Given the description of an element on the screen output the (x, y) to click on. 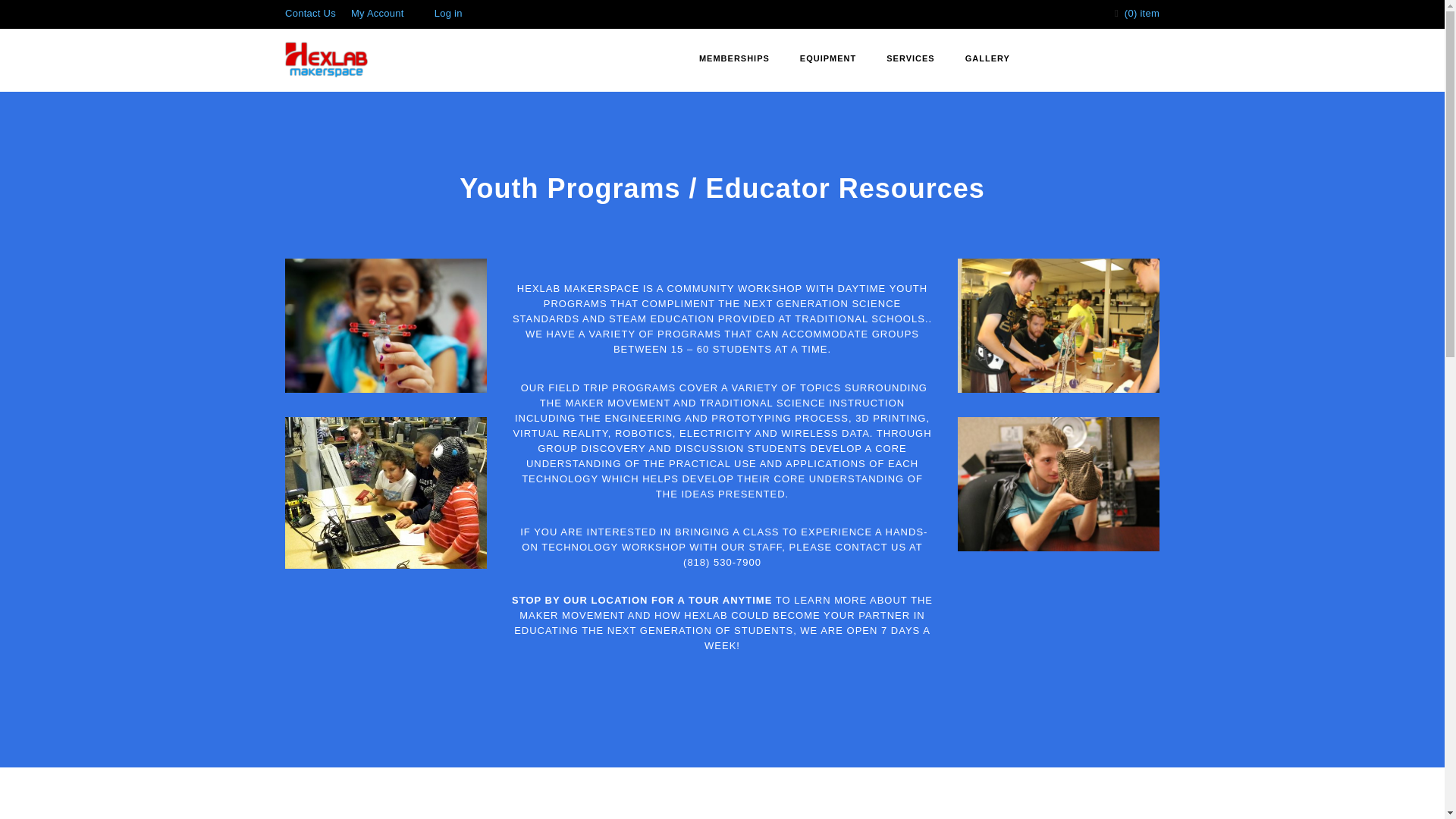
SERVICES (910, 58)
MEMBERSHIPS (734, 58)
My Account (377, 12)
Log in (448, 12)
Contact Us (310, 12)
GALLERY (987, 58)
EQUIPMENT (827, 58)
